Given the description of an element on the screen output the (x, y) to click on. 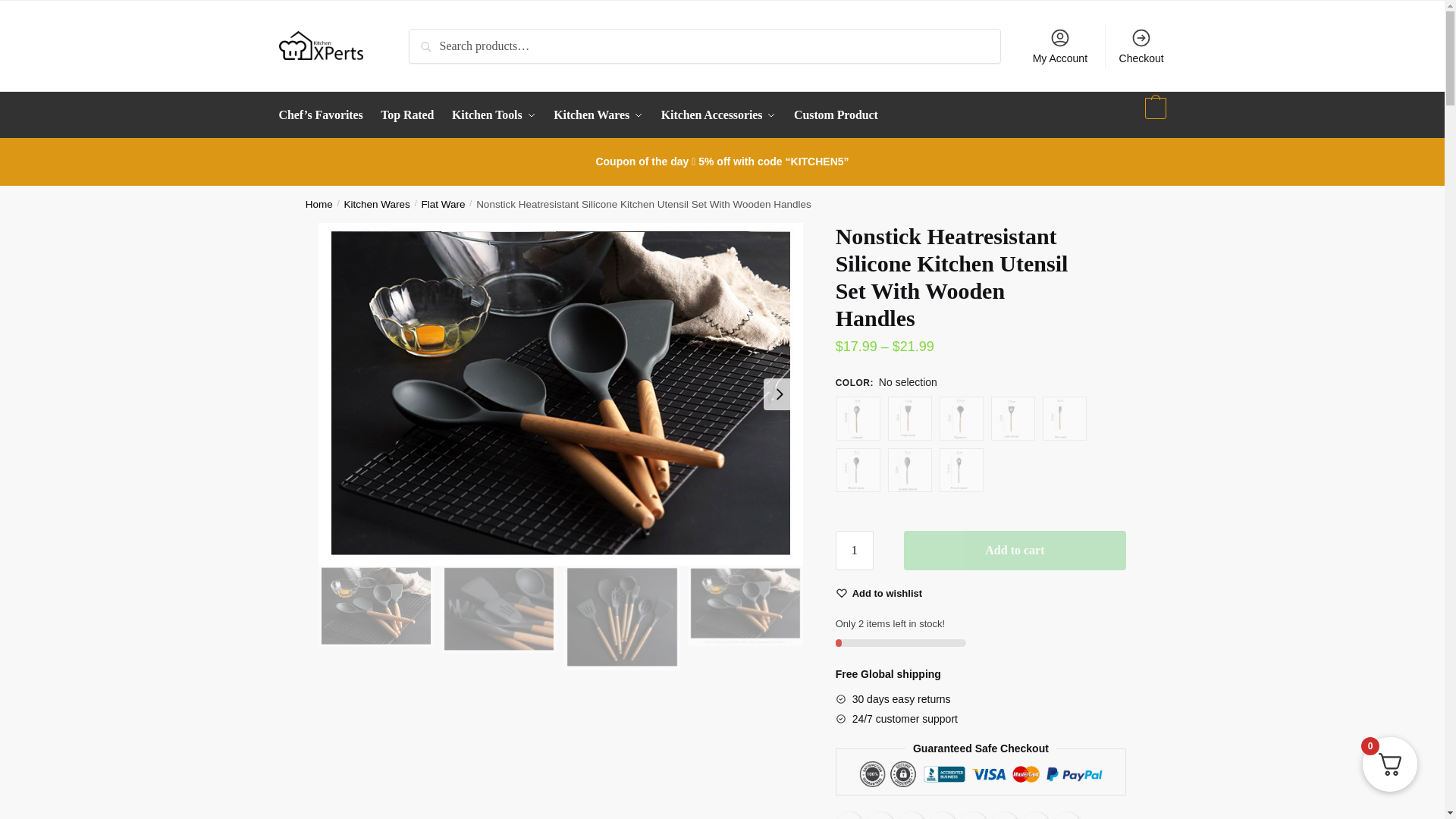
Kitchen Wares (598, 115)
My Account (1059, 45)
Search (433, 41)
Top Rated (407, 115)
Kitchen Accessories (718, 115)
Checkout (1141, 45)
1 (854, 550)
